Given the description of an element on the screen output the (x, y) to click on. 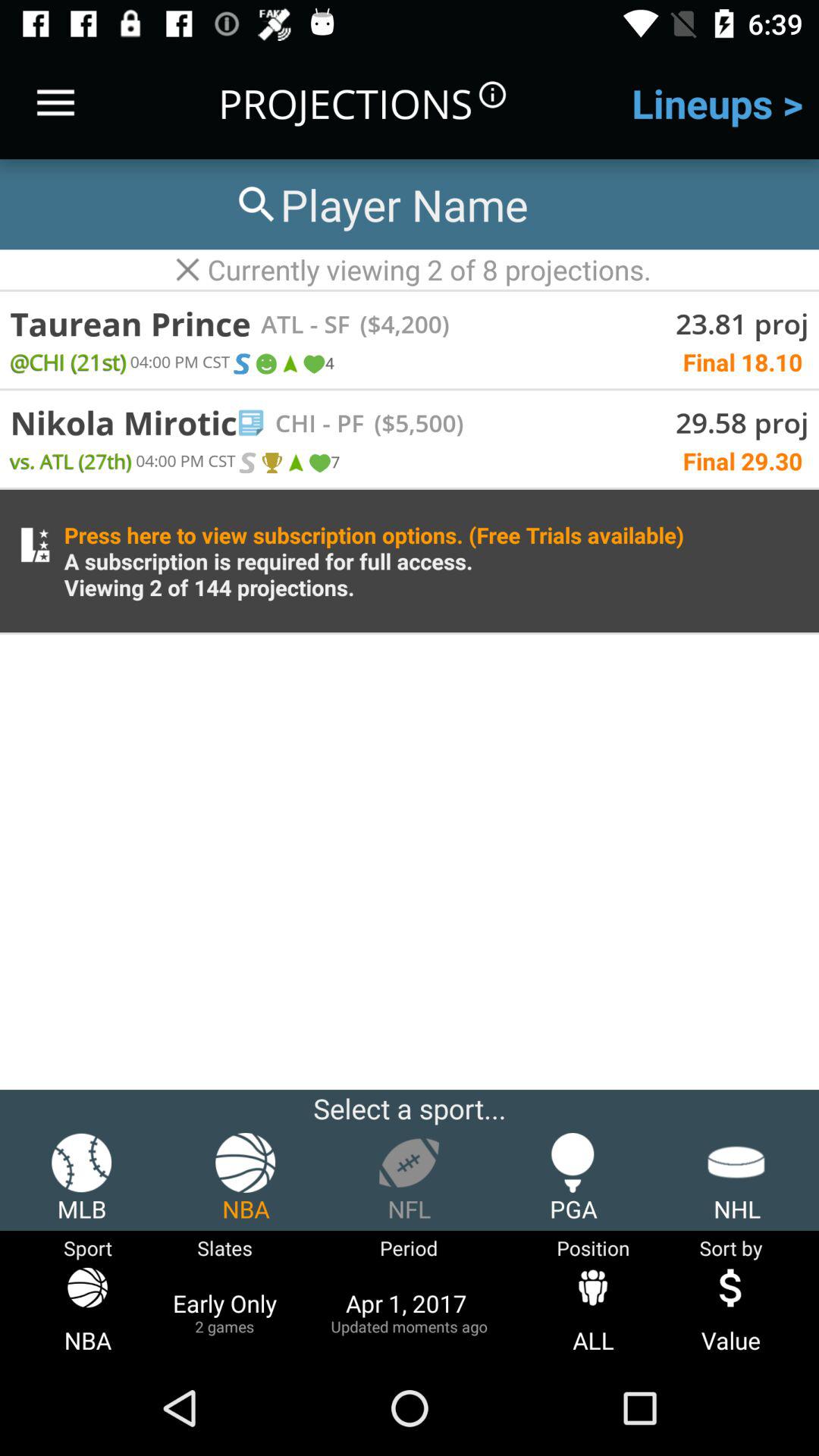
press icon to the left of the position (408, 1311)
